Given the description of an element on the screen output the (x, y) to click on. 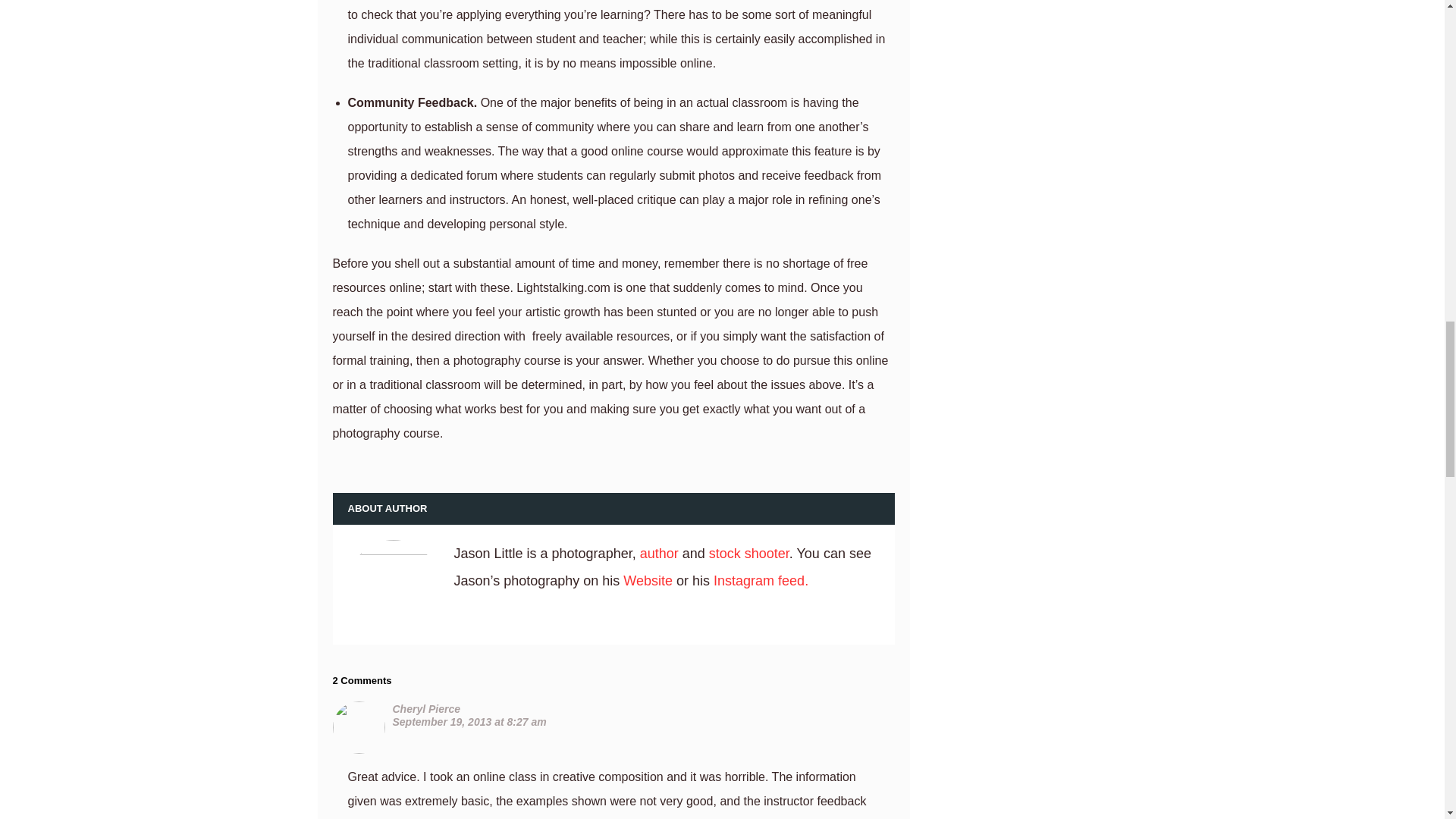
September 19, 2013 at 8:27 am (470, 721)
